Given the description of an element on the screen output the (x, y) to click on. 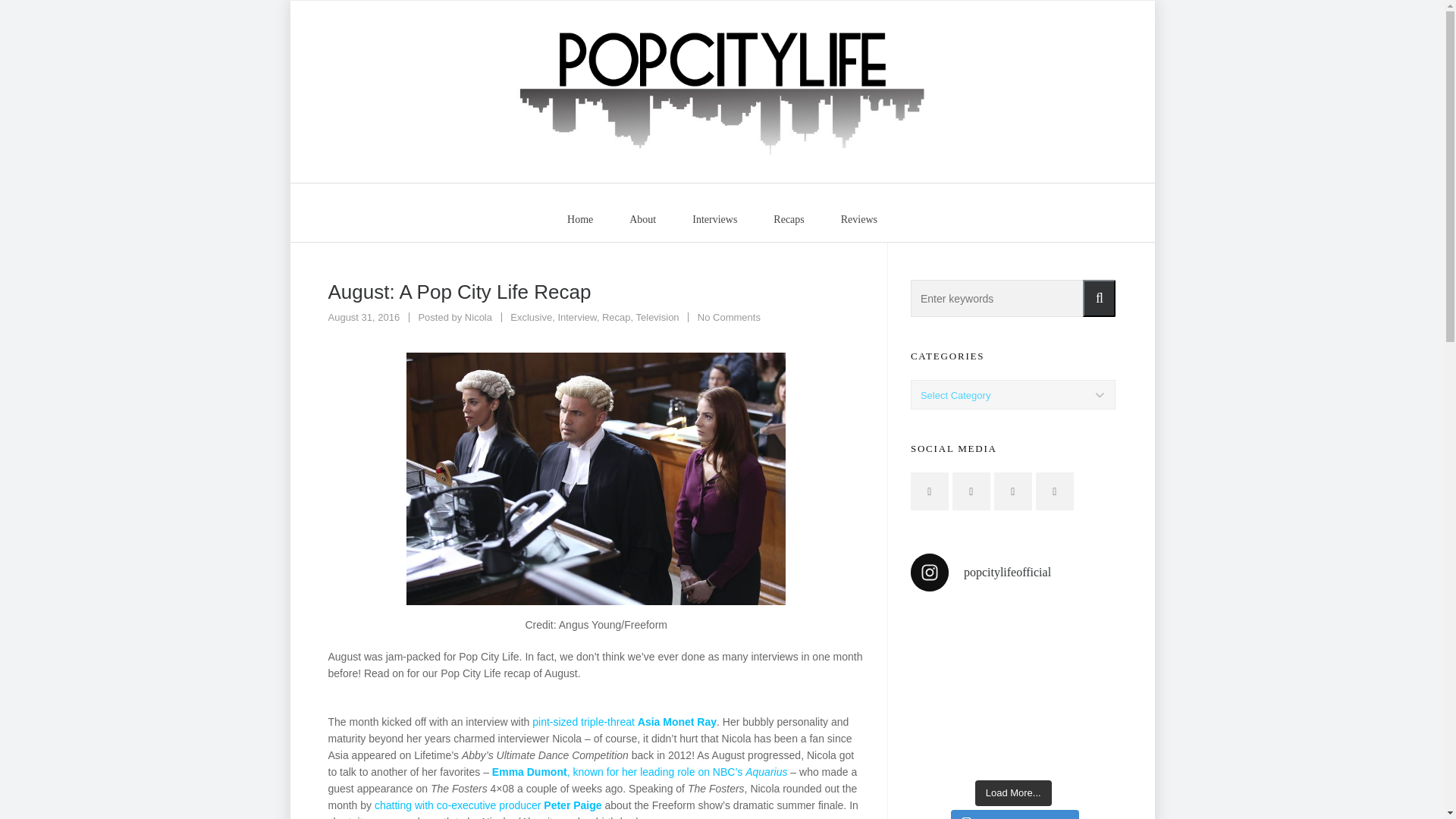
No Comments (728, 317)
No Comments (728, 317)
Reviews (478, 317)
pint-sized triple-threat Asia Monet Ray (858, 217)
Interviews (624, 721)
Recap (714, 217)
chatting with co-executive producer Peter Paige (616, 317)
Recaps (488, 805)
Interview (787, 217)
About (576, 317)
Home (642, 217)
Nicola (580, 217)
Exclusive (478, 317)
Television (531, 317)
